Given the description of an element on the screen output the (x, y) to click on. 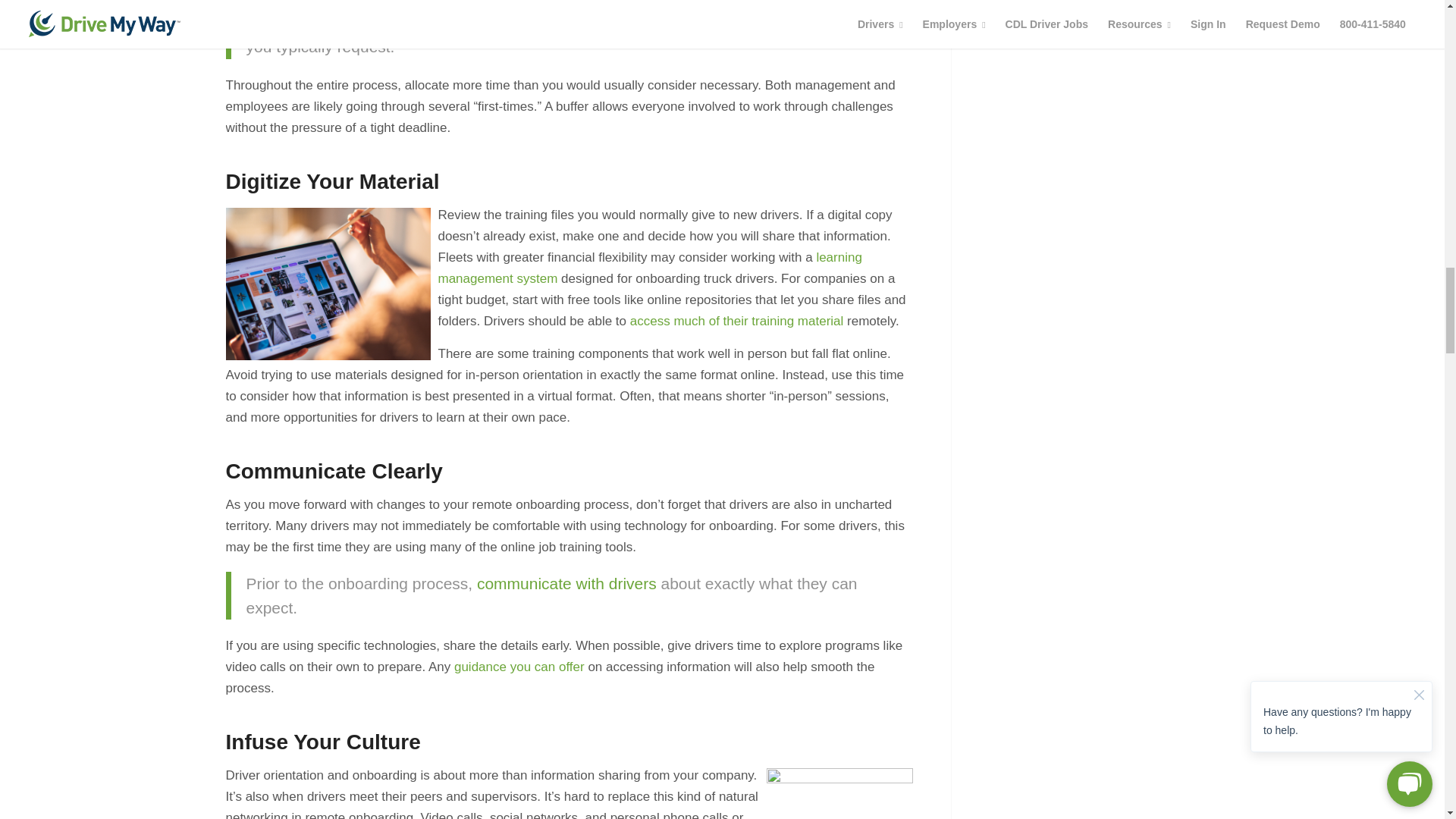
guidance you can offer (519, 667)
access much of their training material (737, 320)
communicate with drivers (566, 583)
learning management system (649, 267)
